Given the description of an element on the screen output the (x, y) to click on. 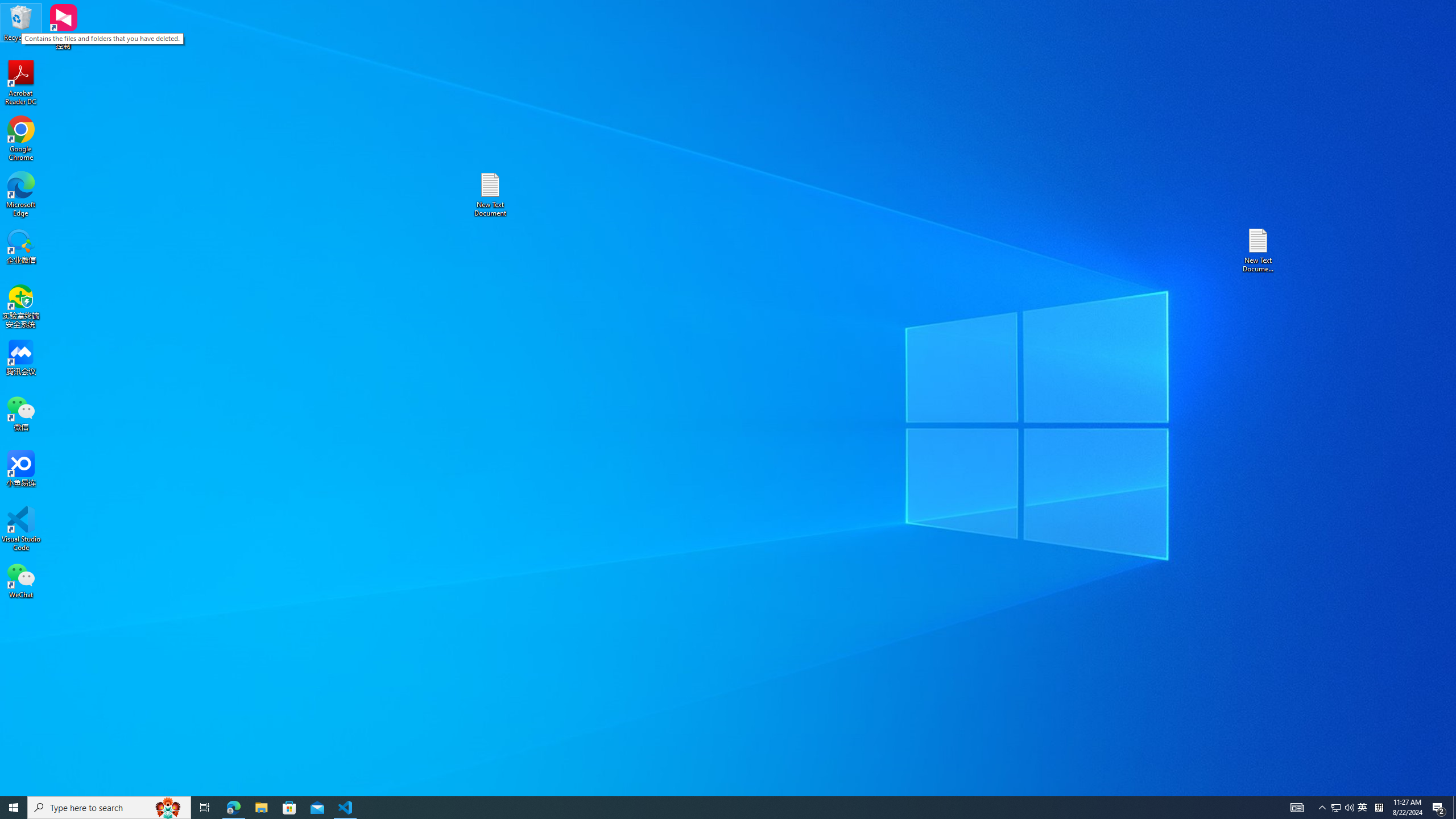
Acrobat Reader DC (21, 82)
User Promoted Notification Area (1342, 807)
